Given the description of an element on the screen output the (x, y) to click on. 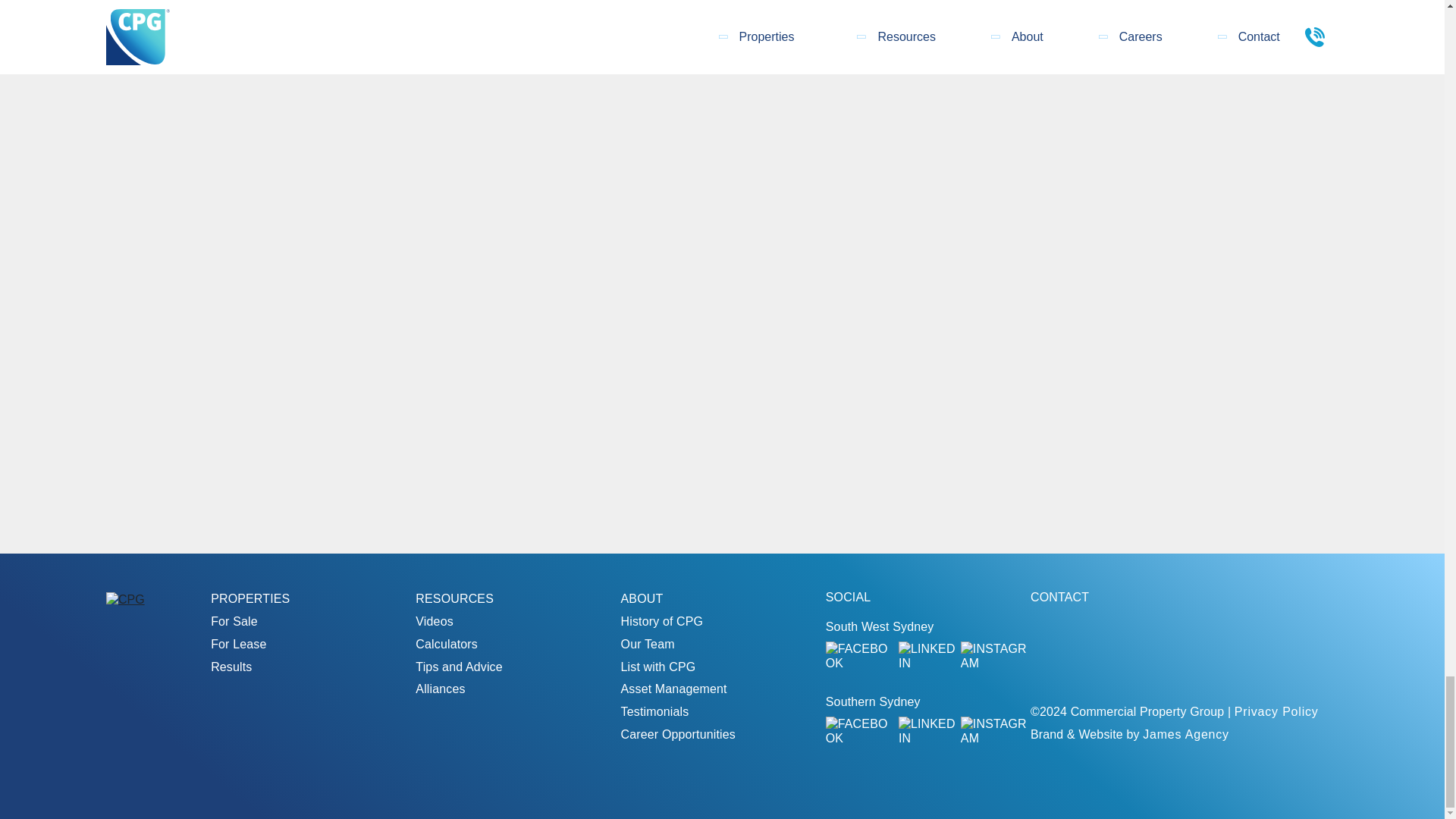
For Lease (238, 644)
facebook (859, 730)
Instagram (996, 655)
facebook (859, 655)
LinkedIn (926, 730)
For Sale (234, 621)
CPG (125, 599)
PROPERTIES (250, 598)
Results (231, 666)
LinkedIn (926, 655)
Instagram (996, 730)
